Given the description of an element on the screen output the (x, y) to click on. 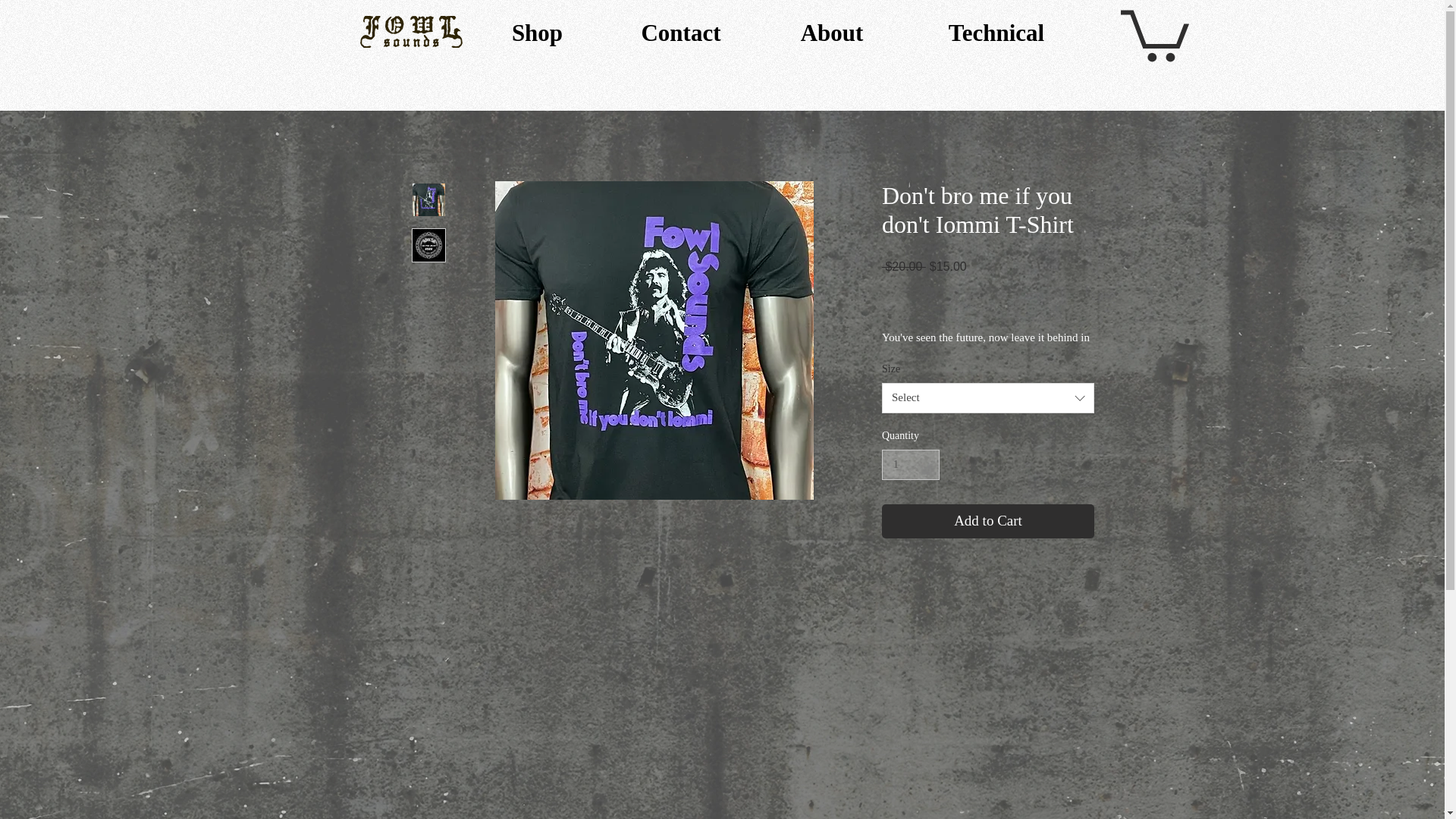
Shop (537, 33)
About (830, 33)
Add to Cart (988, 521)
Technical (997, 33)
Button (869, 375)
1 (910, 464)
Select (988, 398)
Contact (680, 33)
